Given the description of an element on the screen output the (x, y) to click on. 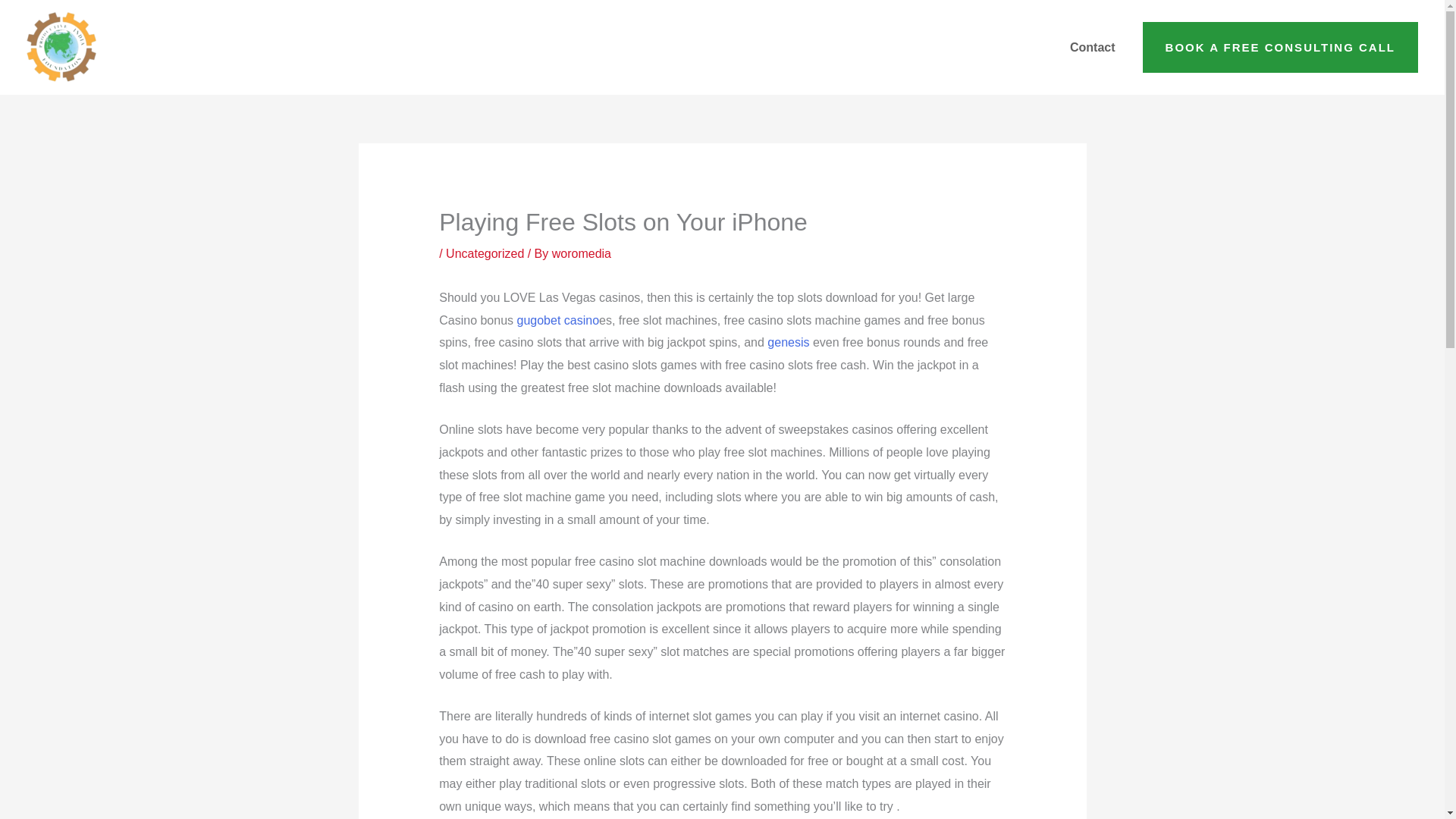
genesis (788, 341)
gugobet casino (557, 319)
Uncategorized (484, 253)
Contact (1092, 47)
woromedia (581, 253)
BOOK A FREE CONSULTING CALL (1280, 47)
View all posts by woromedia (581, 253)
